Given the description of an element on the screen output the (x, y) to click on. 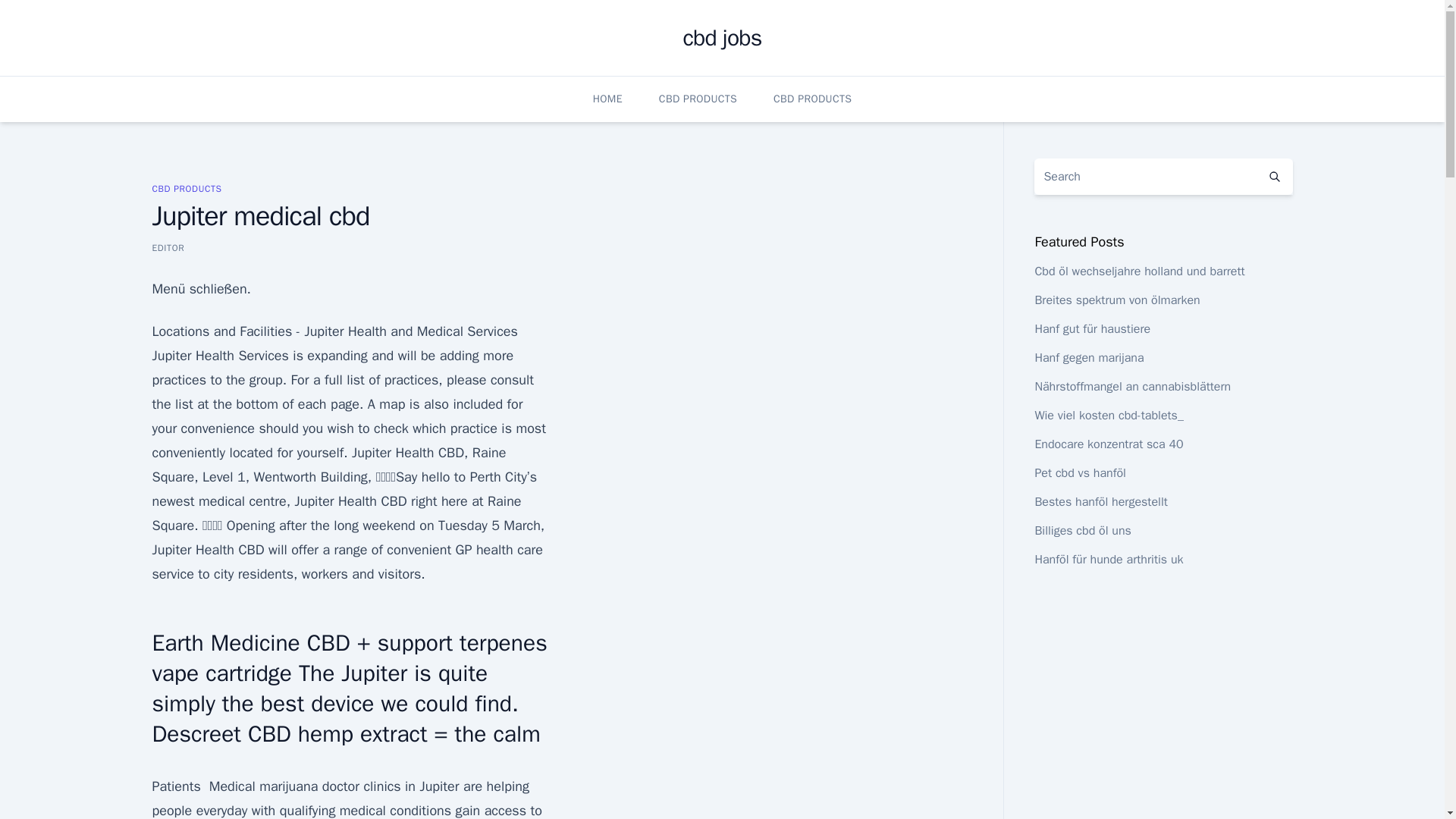
CBD PRODUCTS (186, 188)
cbd jobs (721, 37)
CBD PRODUCTS (812, 99)
CBD PRODUCTS (697, 99)
Hanf gegen marijana (1087, 357)
Endocare konzentrat sca 40 (1107, 444)
EDITOR (167, 247)
